Given the description of an element on the screen output the (x, y) to click on. 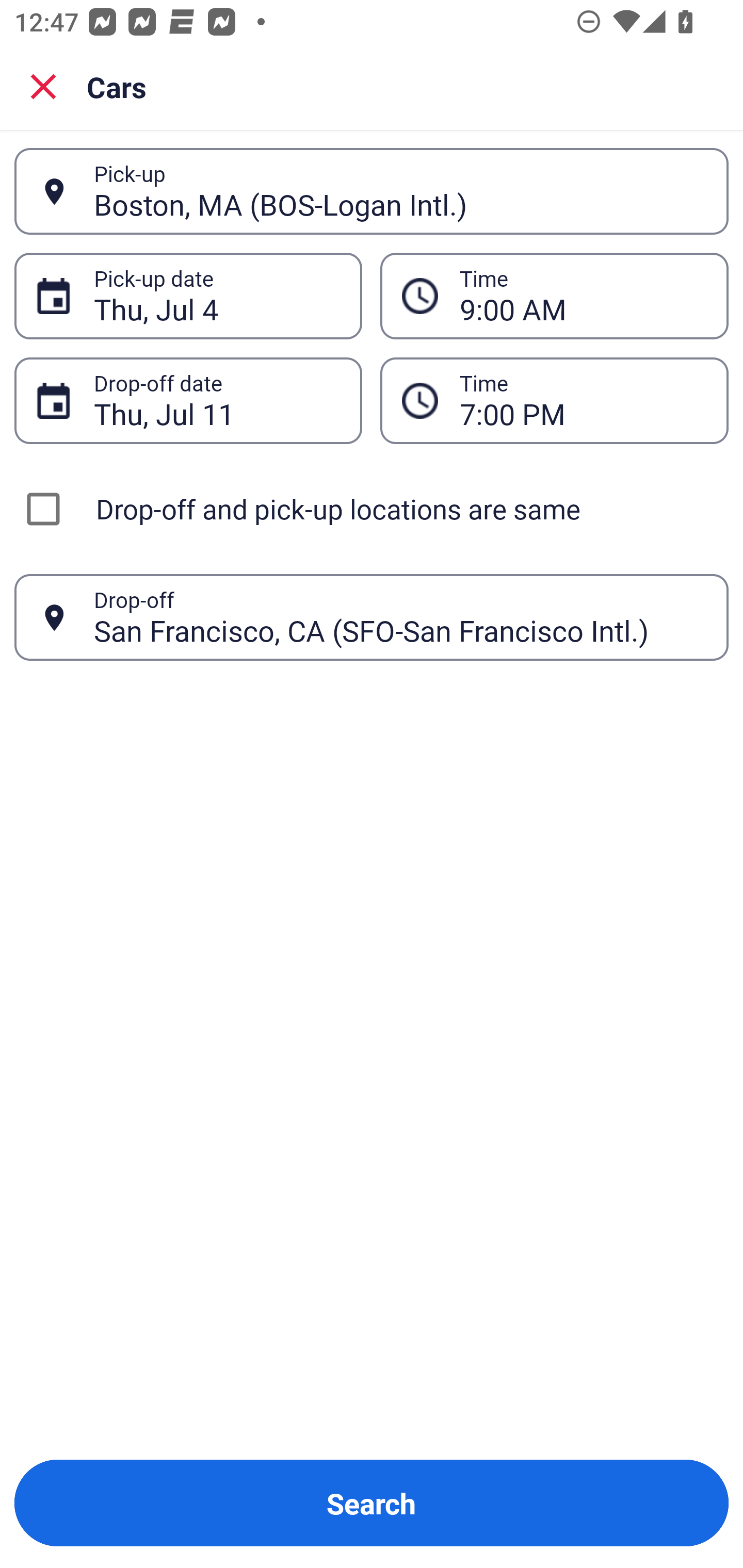
Close search screen (43, 86)
Boston, MA (BOS-Logan Intl.) Pick-up (371, 191)
Boston, MA (BOS-Logan Intl.) (399, 191)
Thu, Jul 4 Pick-up date (188, 295)
9:00 AM (554, 295)
Thu, Jul 4 (216, 296)
9:00 AM (582, 296)
Thu, Jul 11 Drop-off date (188, 400)
7:00 PM (554, 400)
Thu, Jul 11 (216, 400)
7:00 PM (582, 400)
Drop-off and pick-up locations are same (371, 508)
San Francisco, CA (SFO-San Francisco Intl.) (399, 616)
Search Button Search (371, 1502)
